Given the description of an element on the screen output the (x, y) to click on. 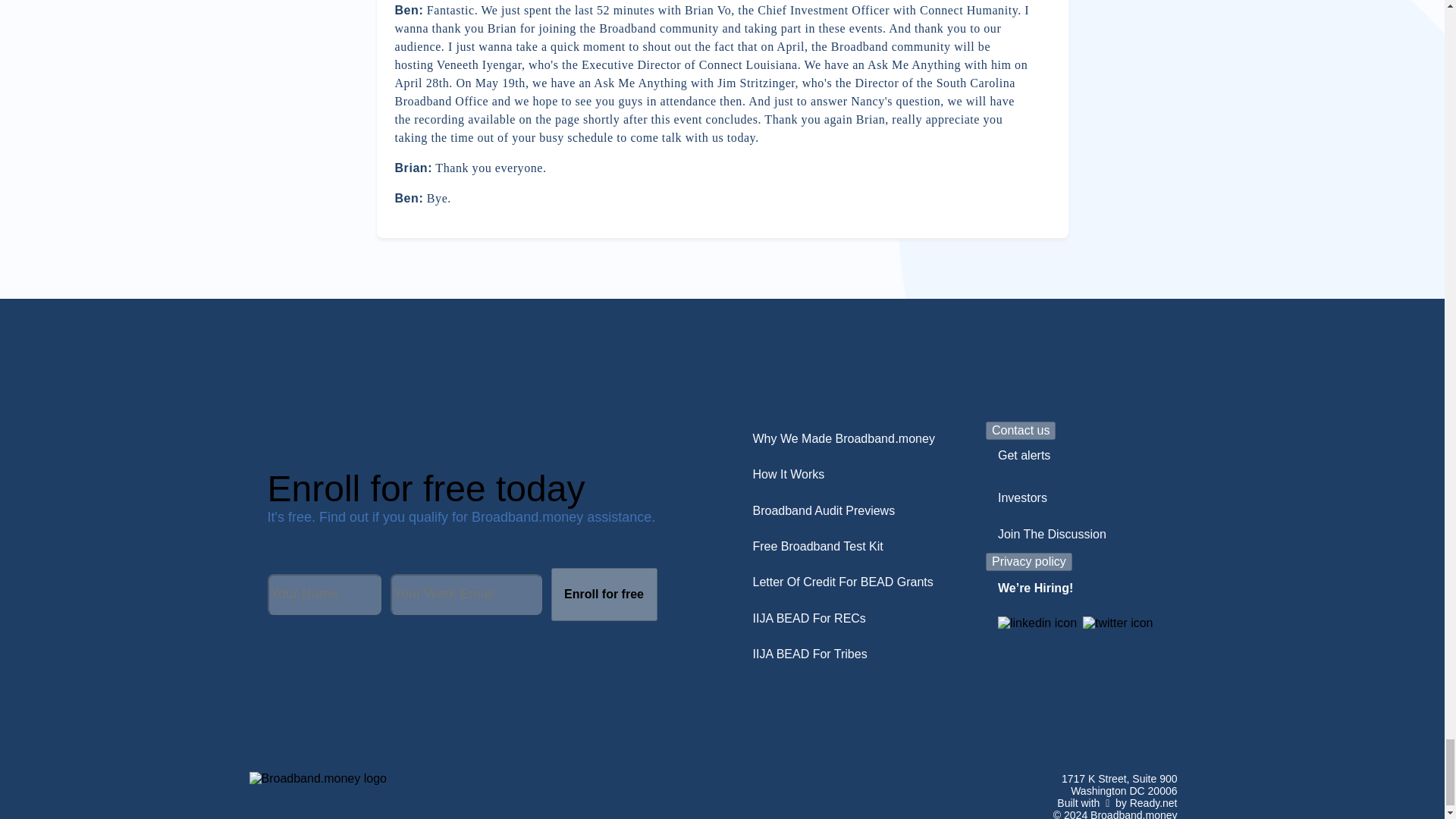
IIJA BEAD For RECs (808, 618)
Join The Discussion (1051, 534)
Investors (1022, 497)
Free Broadband Test Kit (817, 546)
Letter Of Credit For BEAD Grants (841, 582)
Privacy policy (1028, 561)
How It Works (787, 474)
IIJA BEAD For Tribes (809, 654)
Contact us (1020, 430)
Broadband Audit Previews (823, 510)
